Given the description of an element on the screen output the (x, y) to click on. 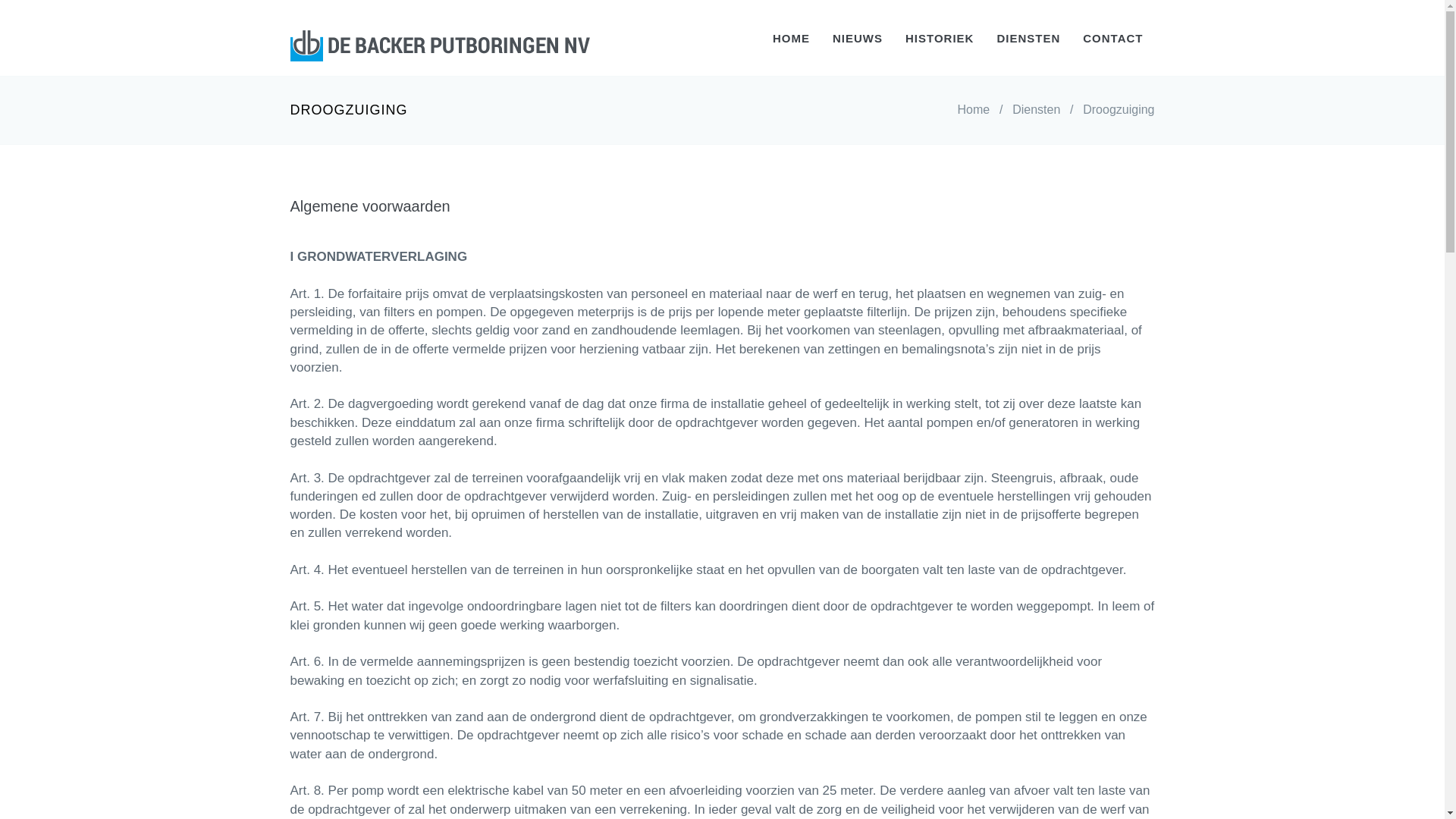
DIENSTEN Element type: text (1028, 37)
HOME Element type: text (791, 37)
CONTACT Element type: text (1112, 37)
Diensten Element type: text (1036, 109)
HISTORIEK Element type: text (939, 37)
Home Element type: text (973, 109)
NIEUWS Element type: text (857, 37)
